Given the description of an element on the screen output the (x, y) to click on. 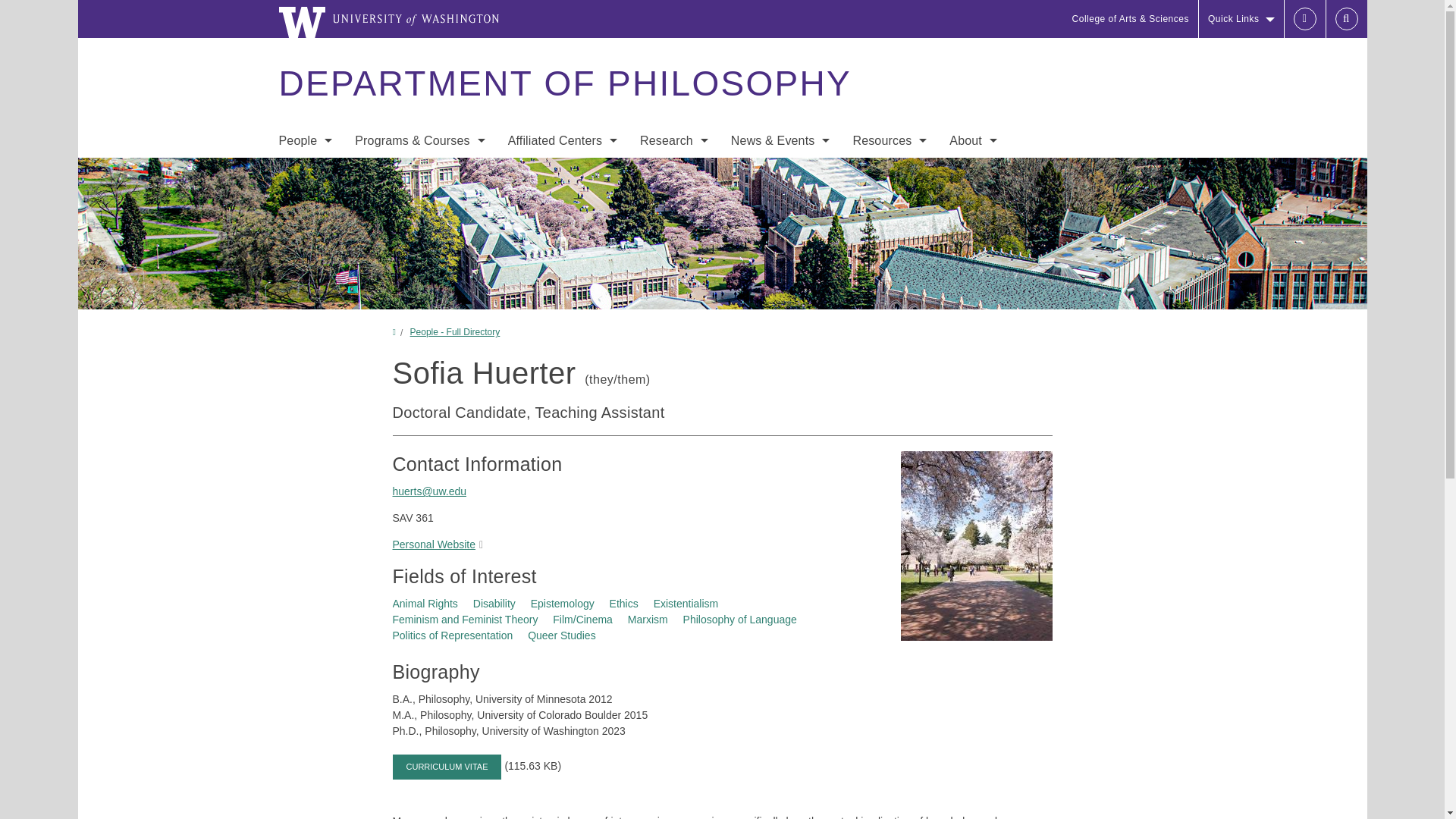
Faculty (304, 173)
Department of Philosophy Home (564, 83)
Quick Links (1241, 18)
Graduate (419, 203)
Graduate Students (304, 233)
UWNetID Login (1304, 18)
Staff (304, 203)
Job Market Candidates (304, 263)
Undergraduate (419, 173)
